Given the description of an element on the screen output the (x, y) to click on. 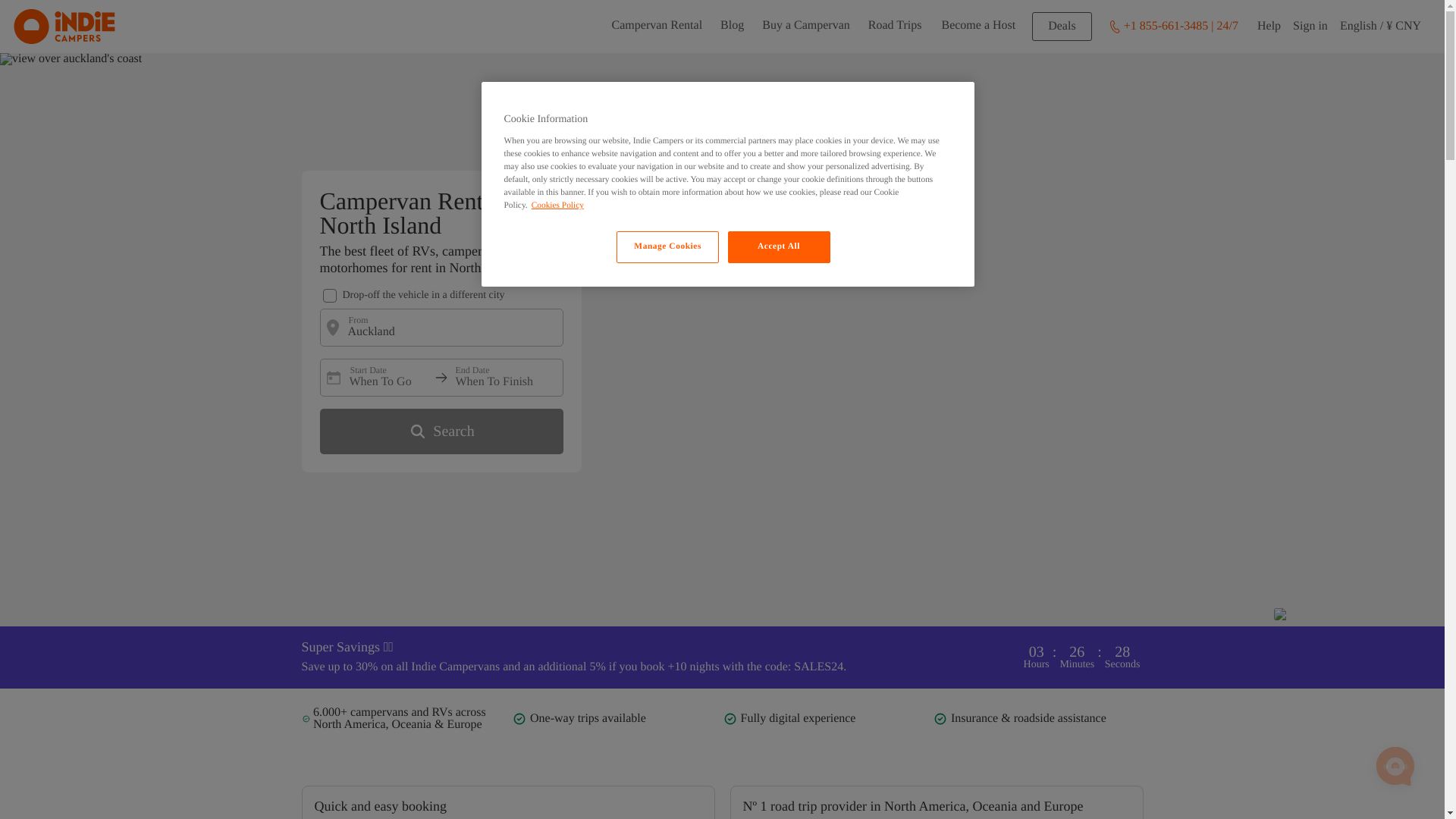
Campervan Rental (656, 26)
Auckland (438, 327)
on (329, 295)
Auckland (438, 327)
